Given the description of an element on the screen output the (x, y) to click on. 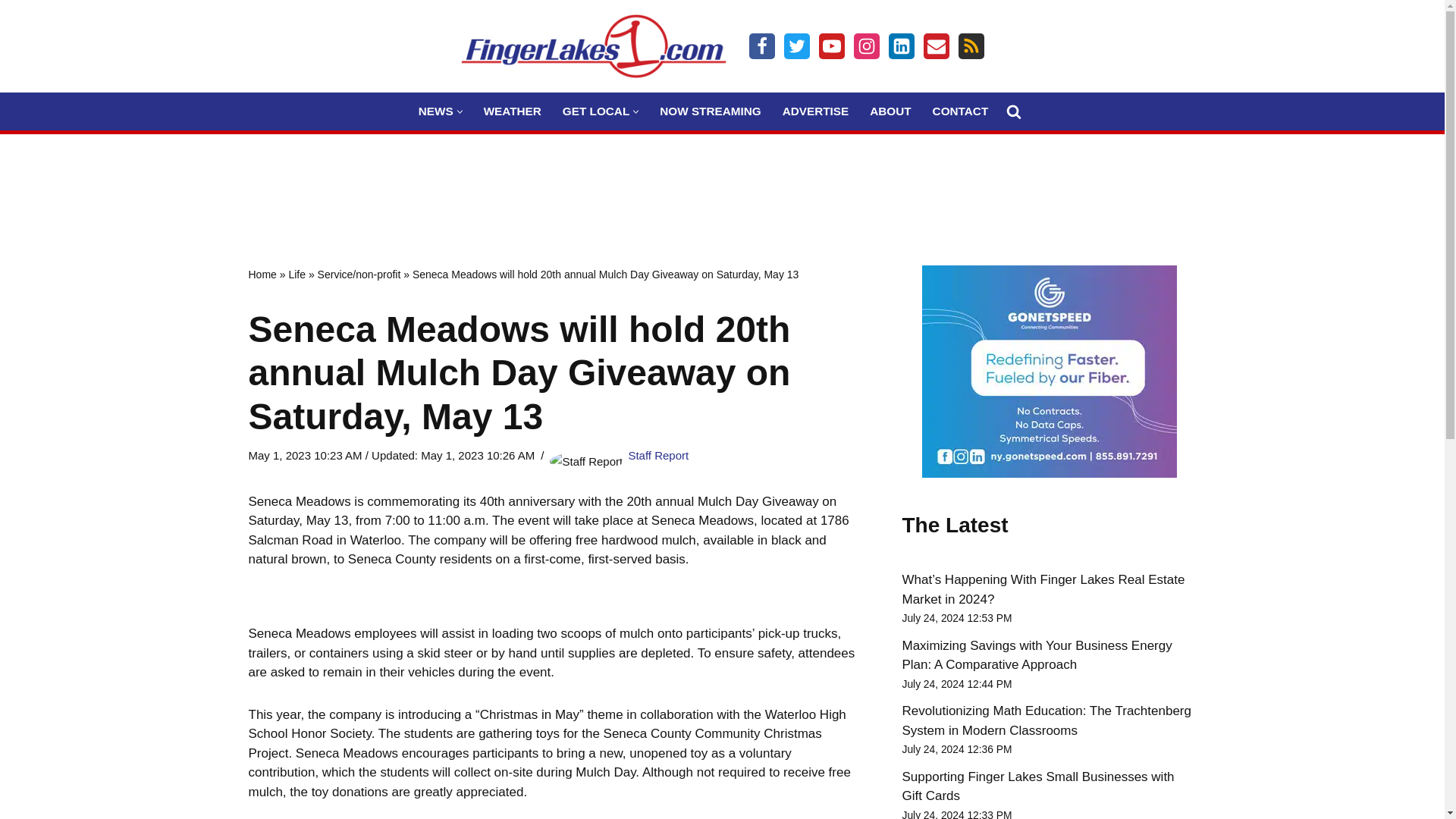
Skip to content (11, 31)
Twitter (796, 45)
CONTACT (960, 111)
NEWS (435, 111)
NOW STREAMING (709, 111)
GET LOCAL (595, 111)
WEATHER (512, 111)
ADVERTISE (815, 111)
LinkIn (901, 45)
Posts by Staff Report (657, 454)
Instagram (866, 45)
Email Us (936, 45)
Feed (971, 45)
ABOUT (890, 111)
Facebook (761, 45)
